Given the description of an element on the screen output the (x, y) to click on. 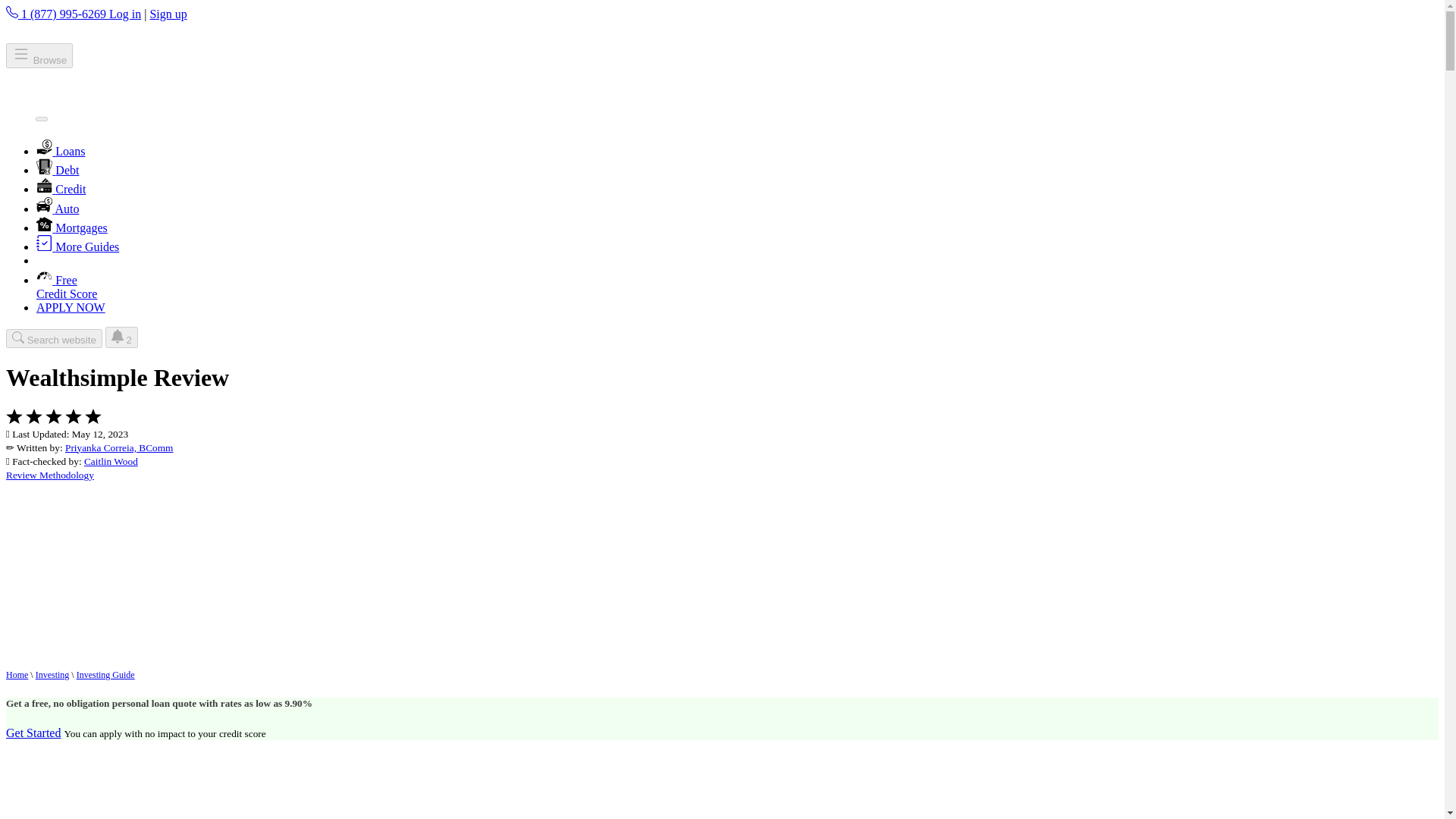
Loans (60, 151)
Debt (57, 169)
Browse (38, 55)
Loans in Canada (60, 151)
Sign up (167, 13)
Log in (125, 13)
